Given the description of an element on the screen output the (x, y) to click on. 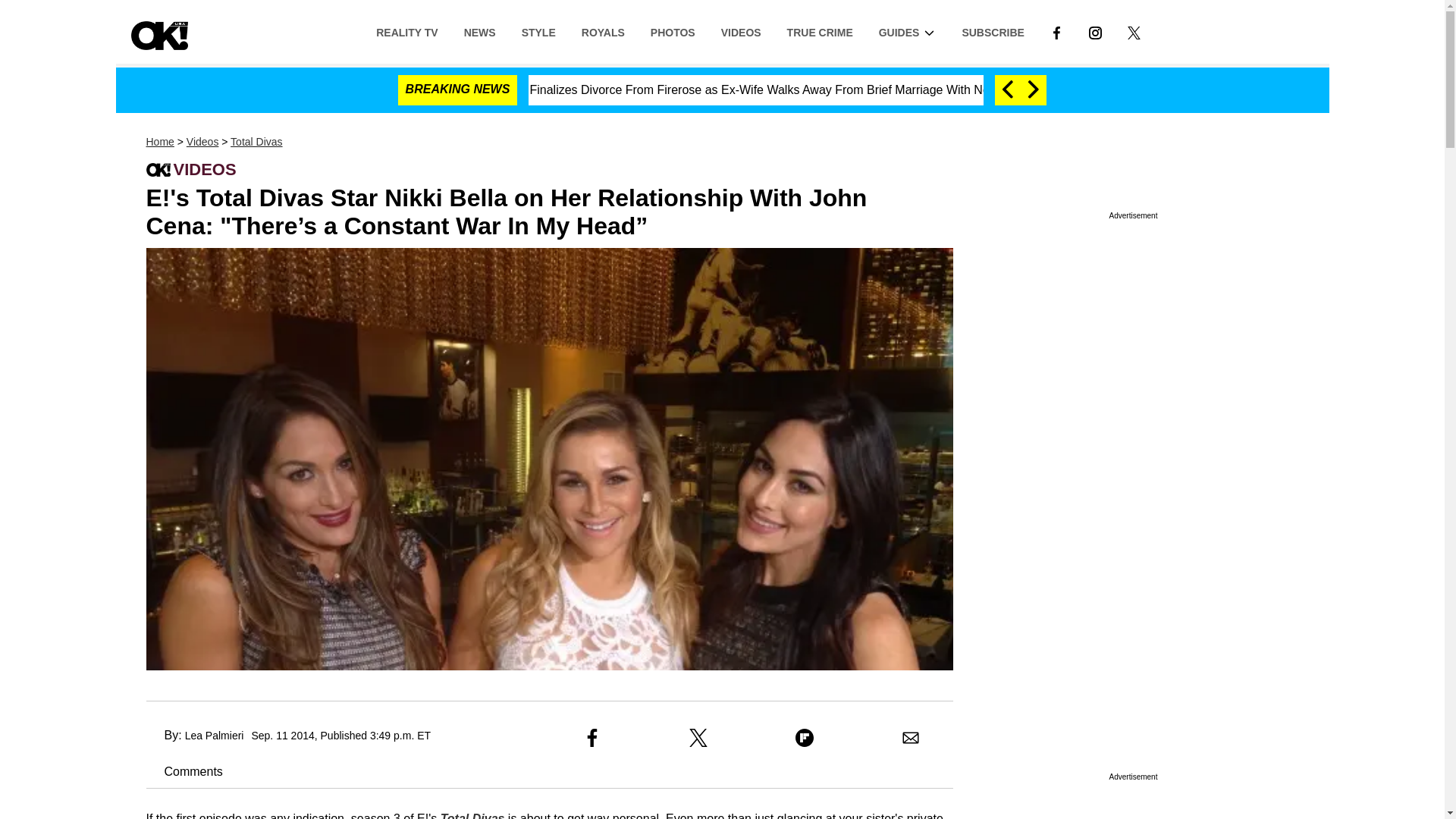
LINK TO X (1134, 31)
PHOTOS (672, 31)
NEWS (479, 31)
SUBSCRIBE (992, 31)
LINK TO FACEBOOK (1055, 31)
Total Divas (473, 815)
Link to Instagram (1095, 31)
Link to X (1134, 31)
LINK TO INSTAGRAM (1095, 32)
Lea Palmieri (214, 735)
Comments (183, 771)
VIDEOS (740, 31)
LINK TO INSTAGRAM (1095, 31)
STYLE (538, 31)
